Given the description of an element on the screen output the (x, y) to click on. 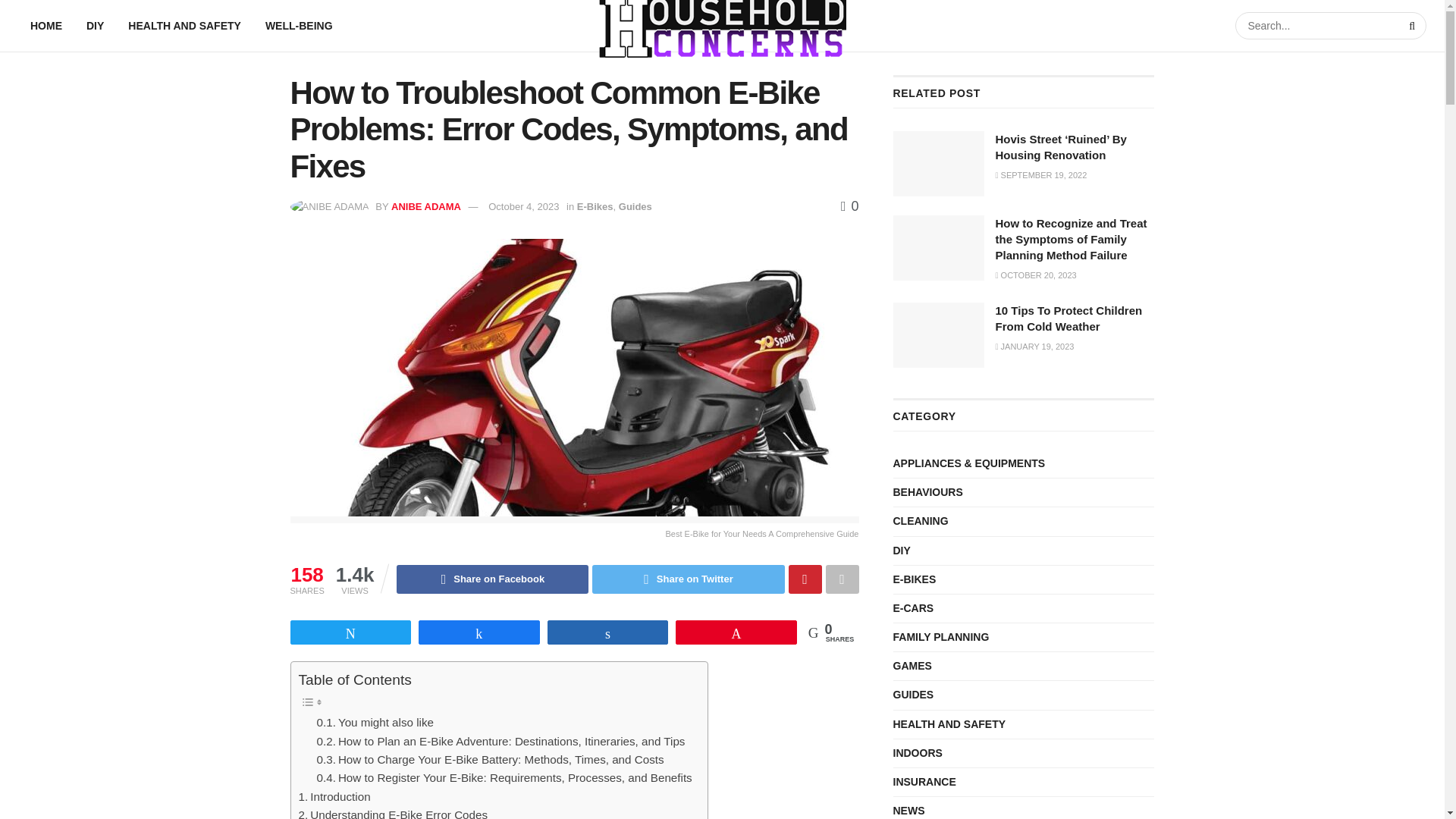
WELL-BEING (299, 25)
Introduction (334, 796)
0 (850, 206)
October 4, 2023 (523, 205)
Share on Twitter (688, 579)
You might also like (375, 722)
HOME (45, 25)
